Given the description of an element on the screen output the (x, y) to click on. 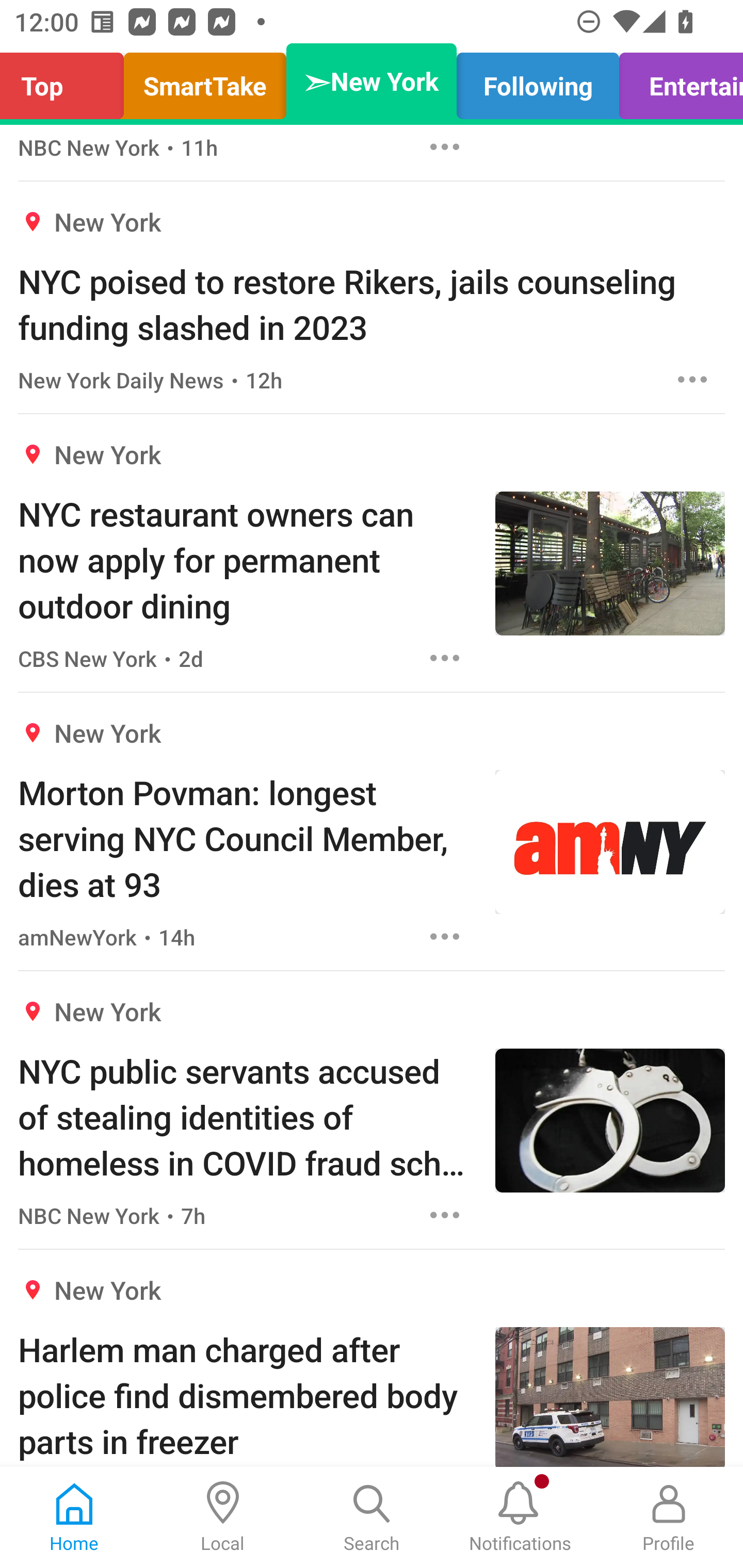
Top (67, 81)
SmartTake (204, 81)
➣New York (371, 81)
Following (537, 81)
Options (444, 147)
Options (692, 379)
Options (444, 658)
Options (444, 936)
Options (444, 1215)
Local (222, 1517)
Search (371, 1517)
Notifications, New notification Notifications (519, 1517)
Profile (668, 1517)
